Given the description of an element on the screen output the (x, y) to click on. 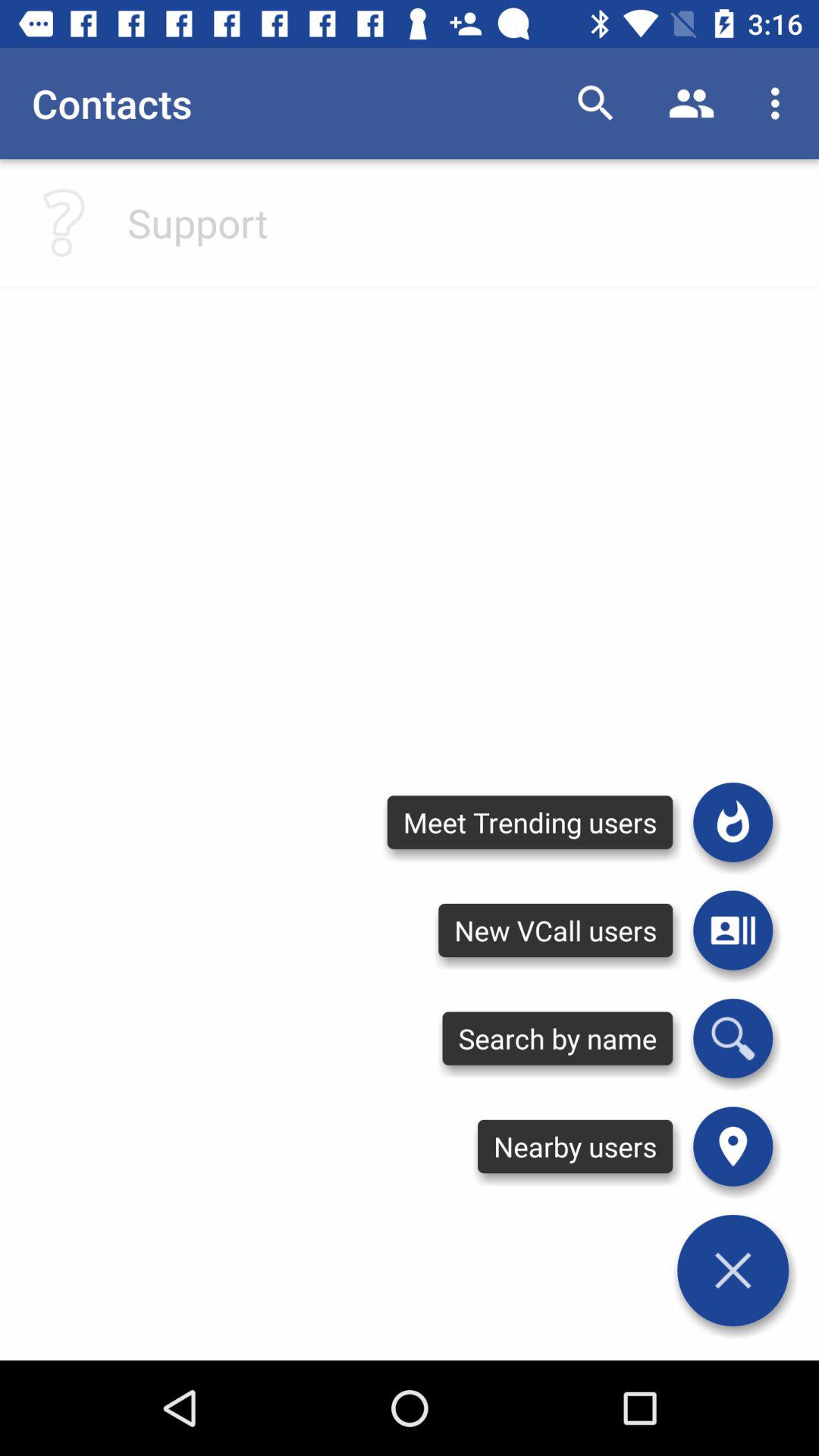
turn off support app (197, 222)
